Given the description of an element on the screen output the (x, y) to click on. 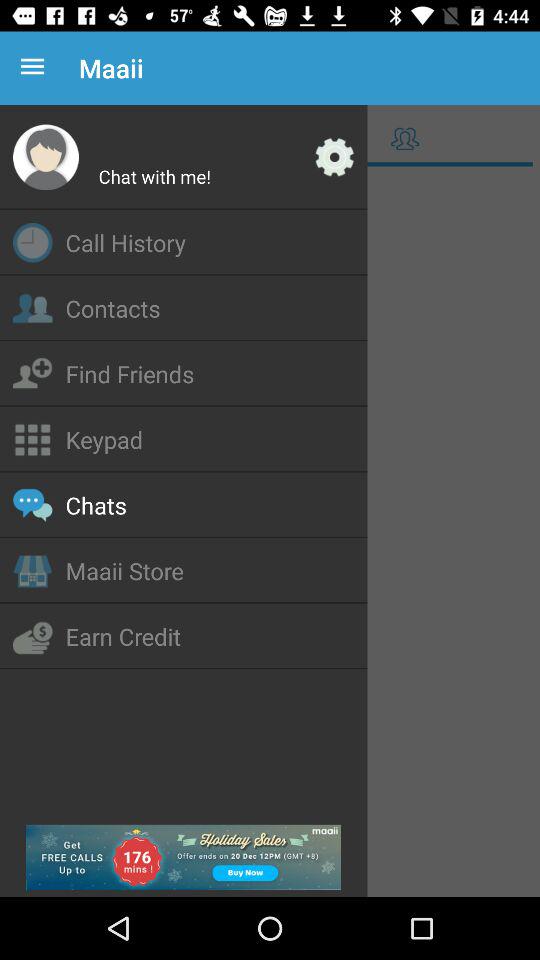
settings (334, 157)
